Given the description of an element on the screen output the (x, y) to click on. 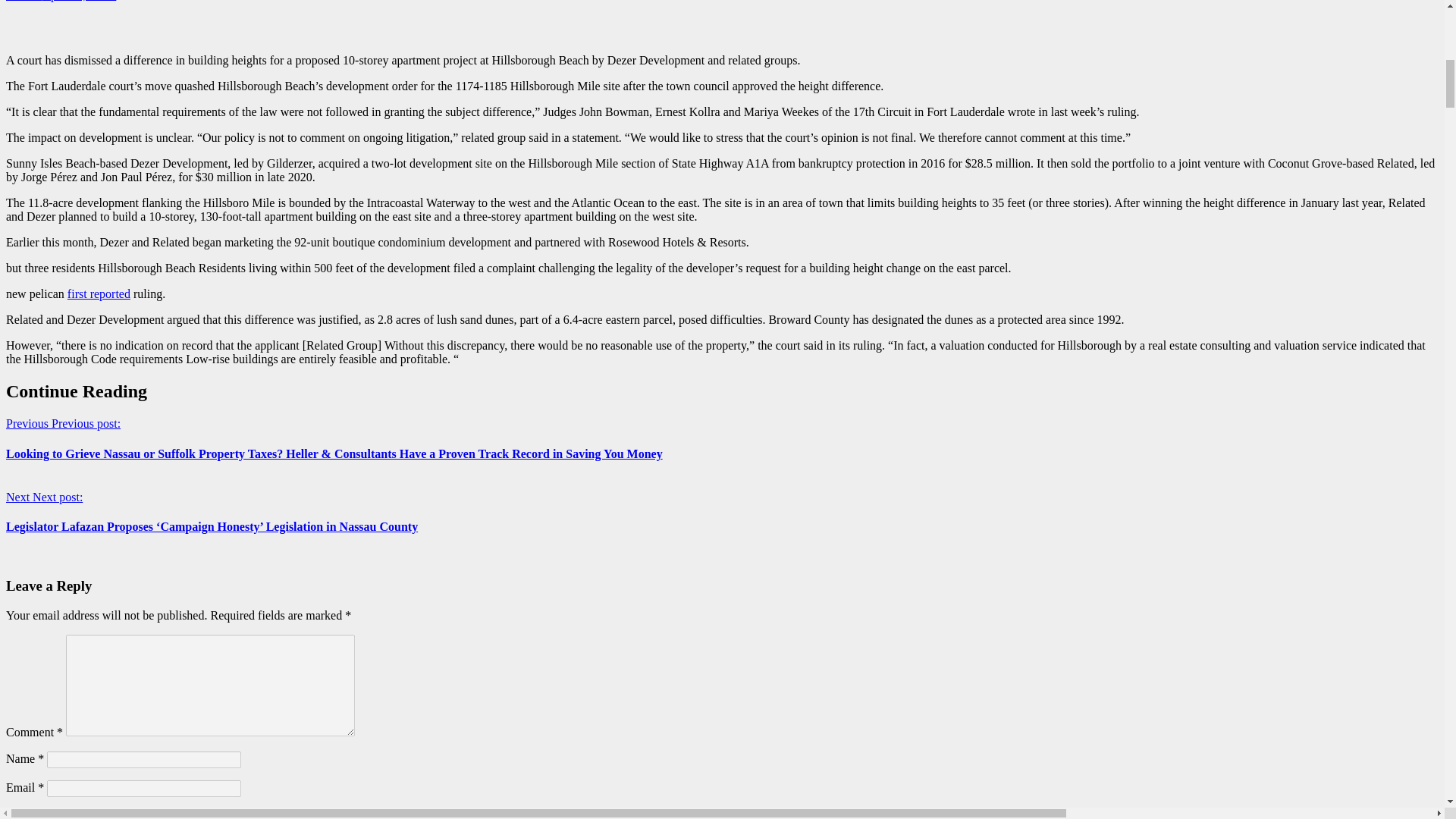
April 27, 2023 (79, 0)
first reported (98, 293)
Admin (23, 0)
